Given the description of an element on the screen output the (x, y) to click on. 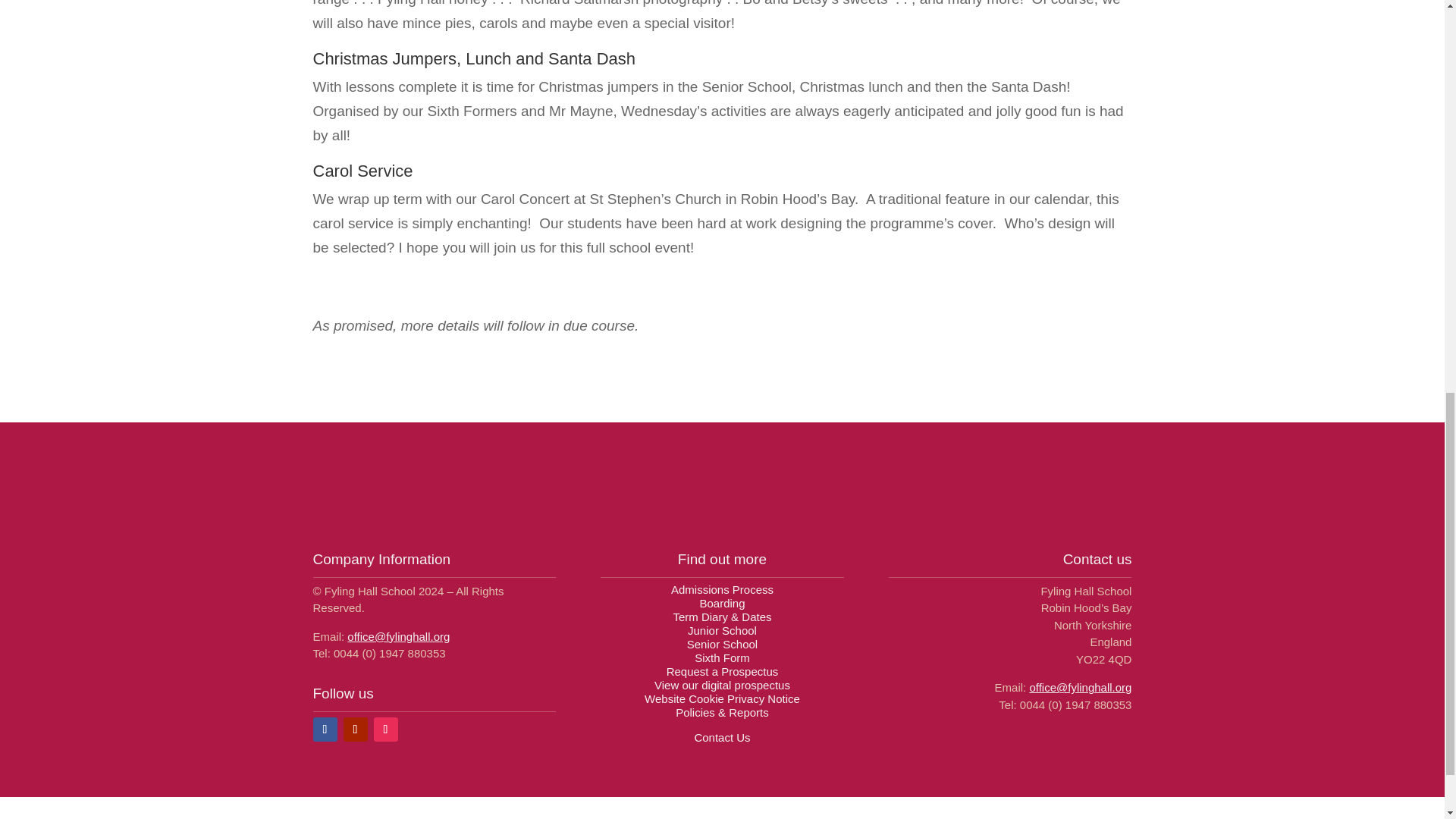
Follow on Facebook (324, 729)
Follow on Instagram (384, 729)
Follow on Youtube (354, 729)
